Given the description of an element on the screen output the (x, y) to click on. 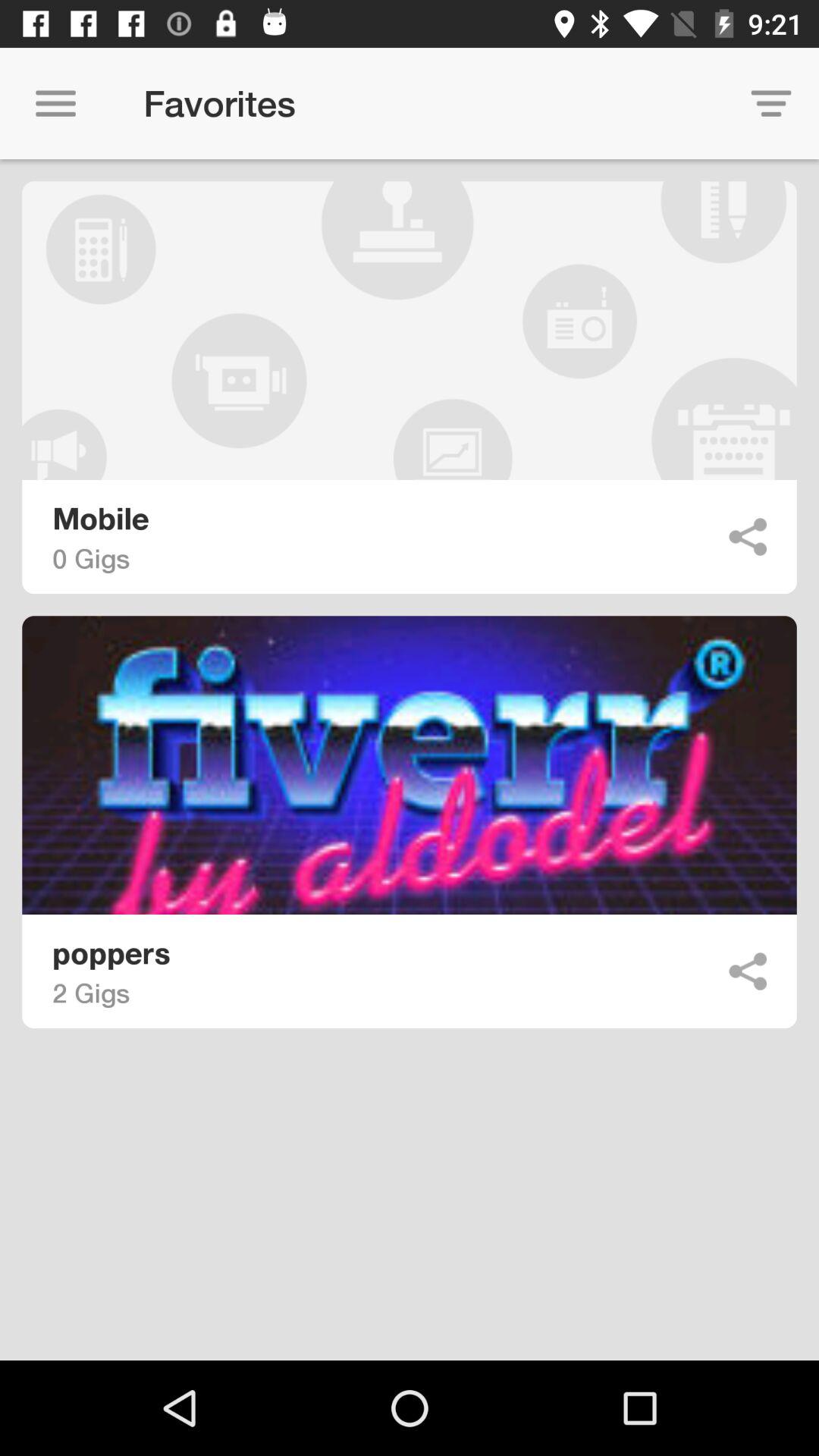
share item (747, 971)
